Given the description of an element on the screen output the (x, y) to click on. 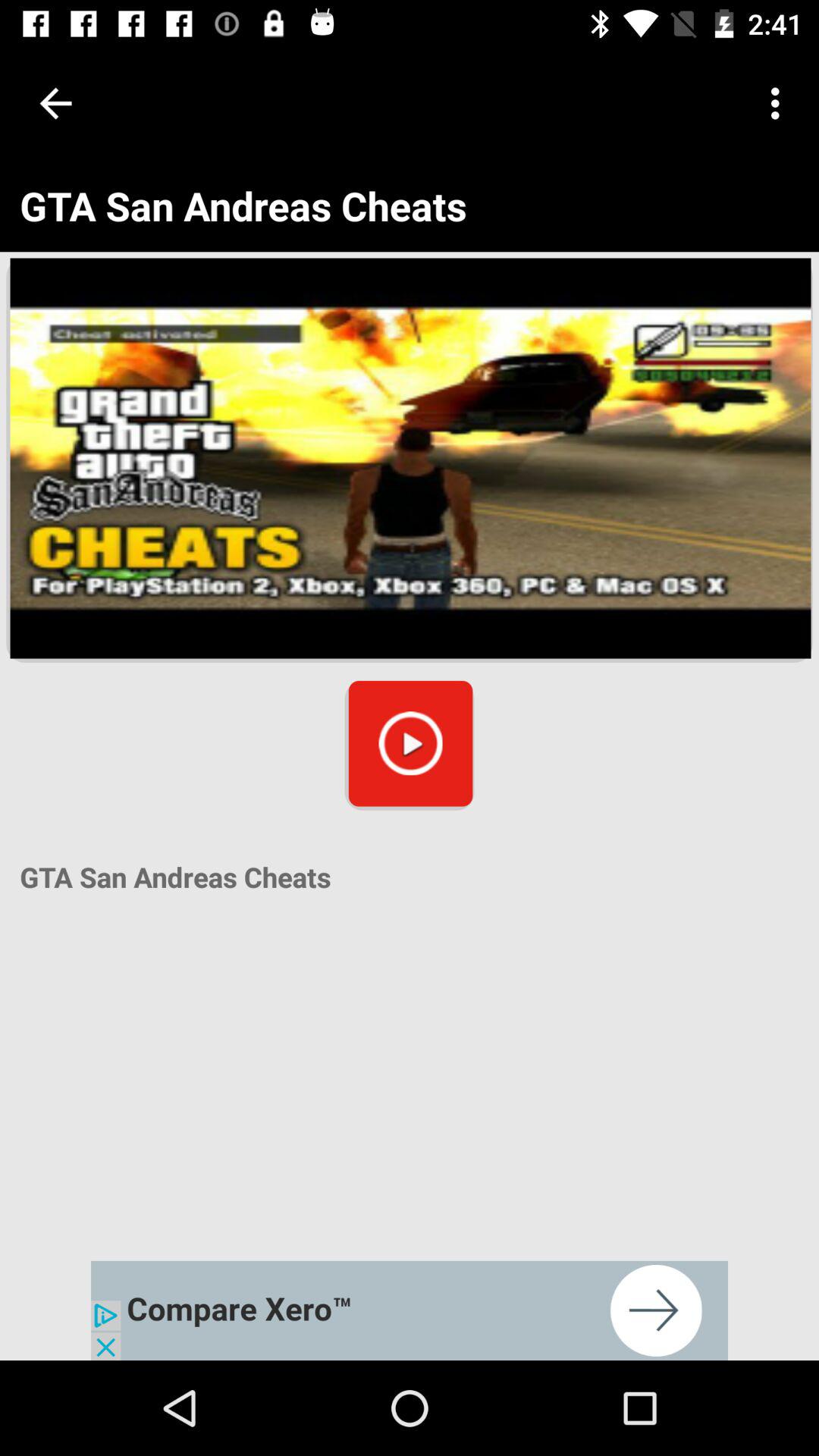
go to advertisement (409, 1310)
